Given the description of an element on the screen output the (x, y) to click on. 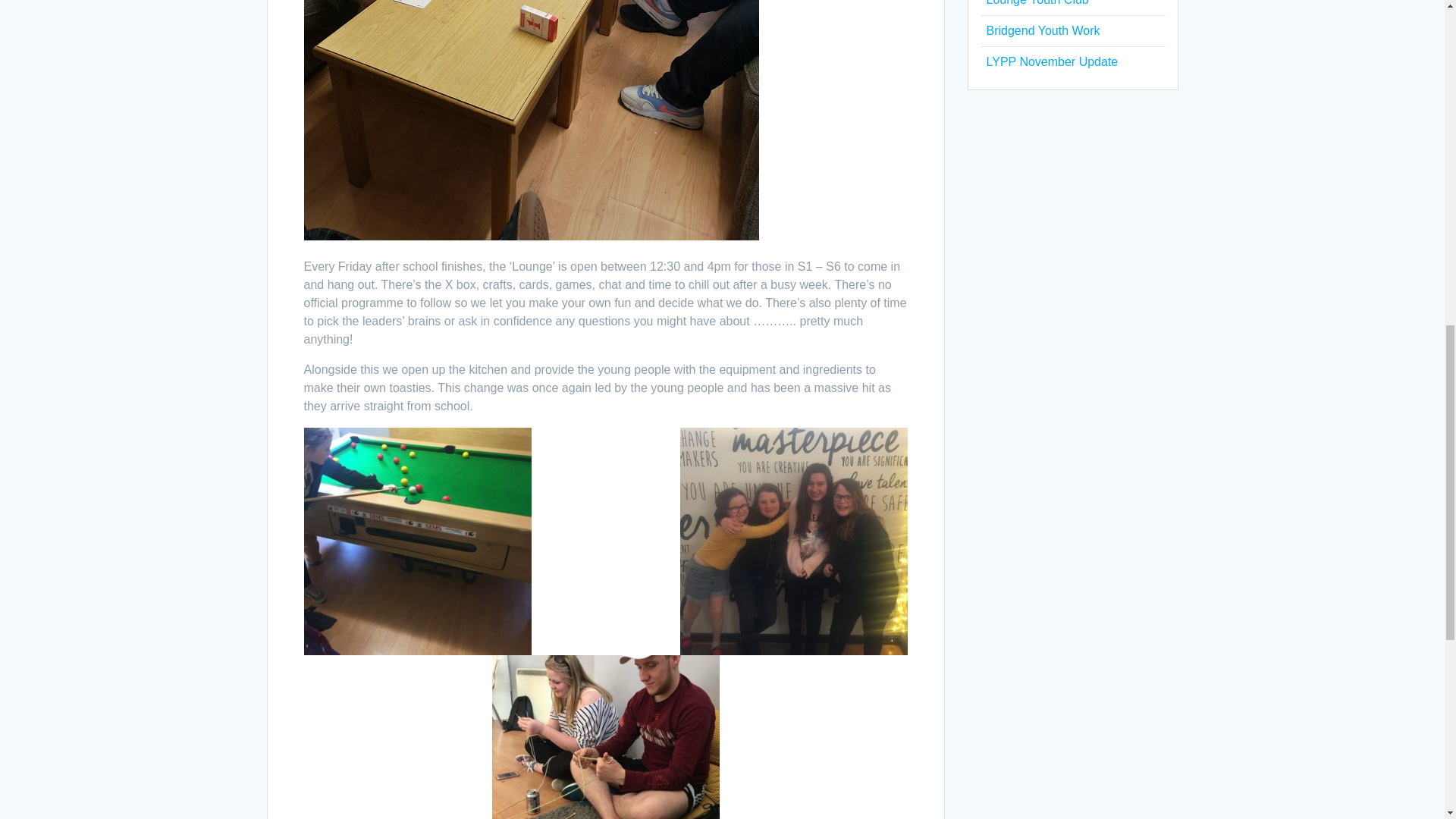
Bridgend Youth Work (1042, 30)
Lounge Youth Club (1036, 2)
LYPP November Update (1051, 61)
